Given the description of an element on the screen output the (x, y) to click on. 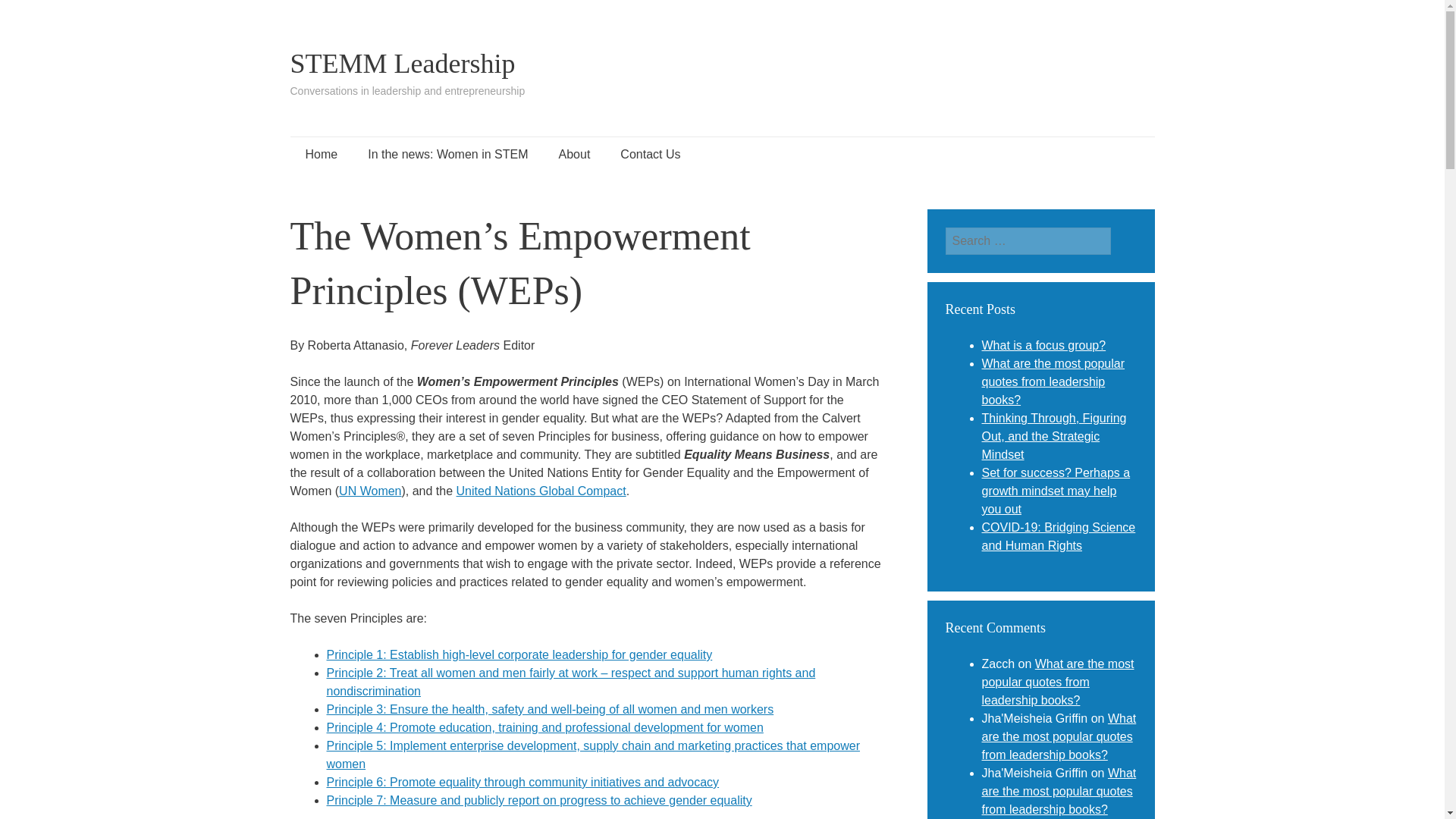
STEMM Leadership (402, 63)
United Nations Global Compact (541, 490)
Home (320, 154)
In the news: Women in STEM (447, 154)
About (574, 154)
Contact Us (650, 154)
